Given the description of an element on the screen output the (x, y) to click on. 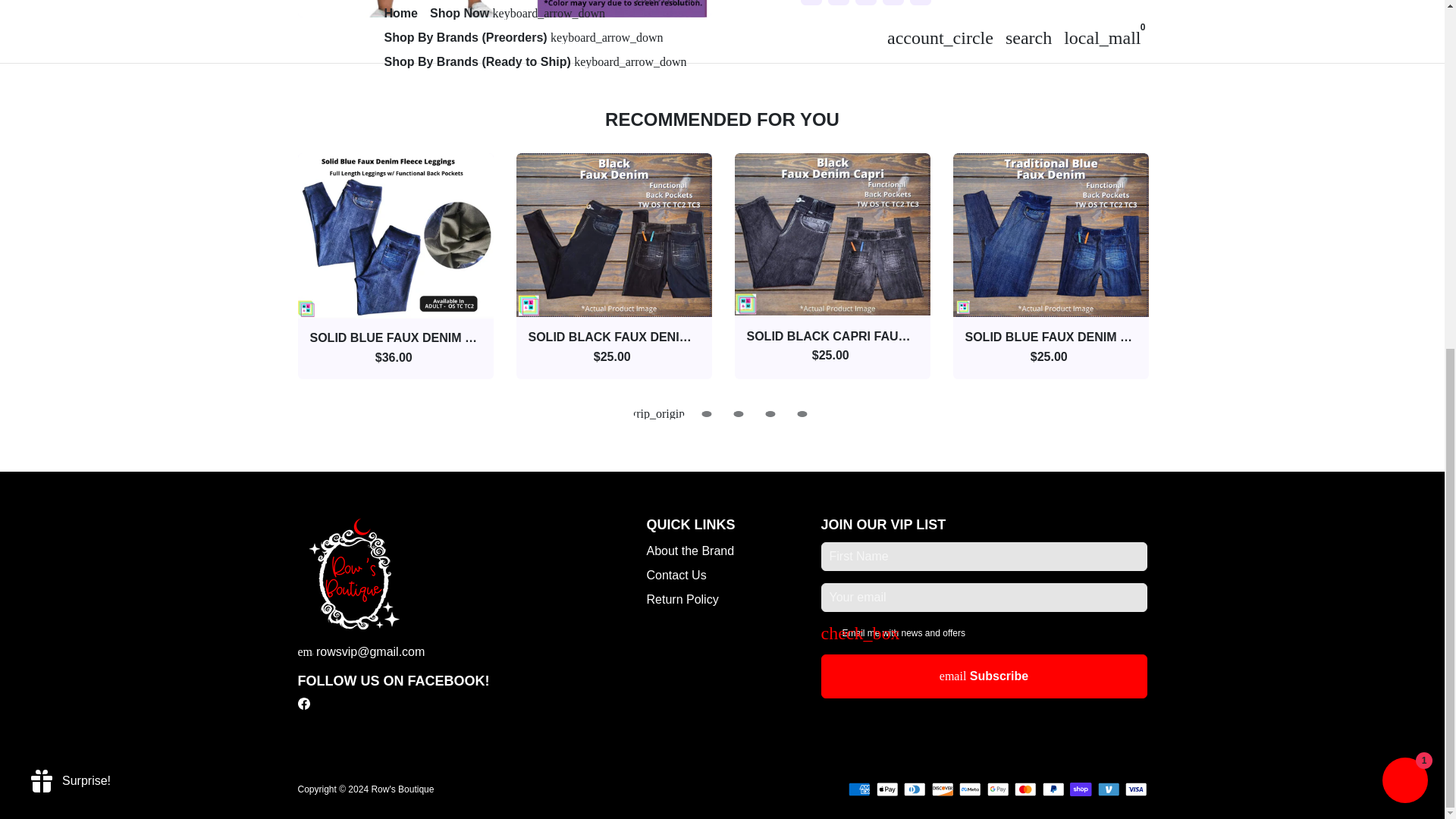
Meta Pay (970, 789)
Google Pay (998, 789)
Mastercard (1025, 789)
PayPal (1052, 789)
American Express (859, 789)
Diners Club (915, 789)
Apple Pay (887, 789)
Discover (941, 789)
